Given the description of an element on the screen output the (x, y) to click on. 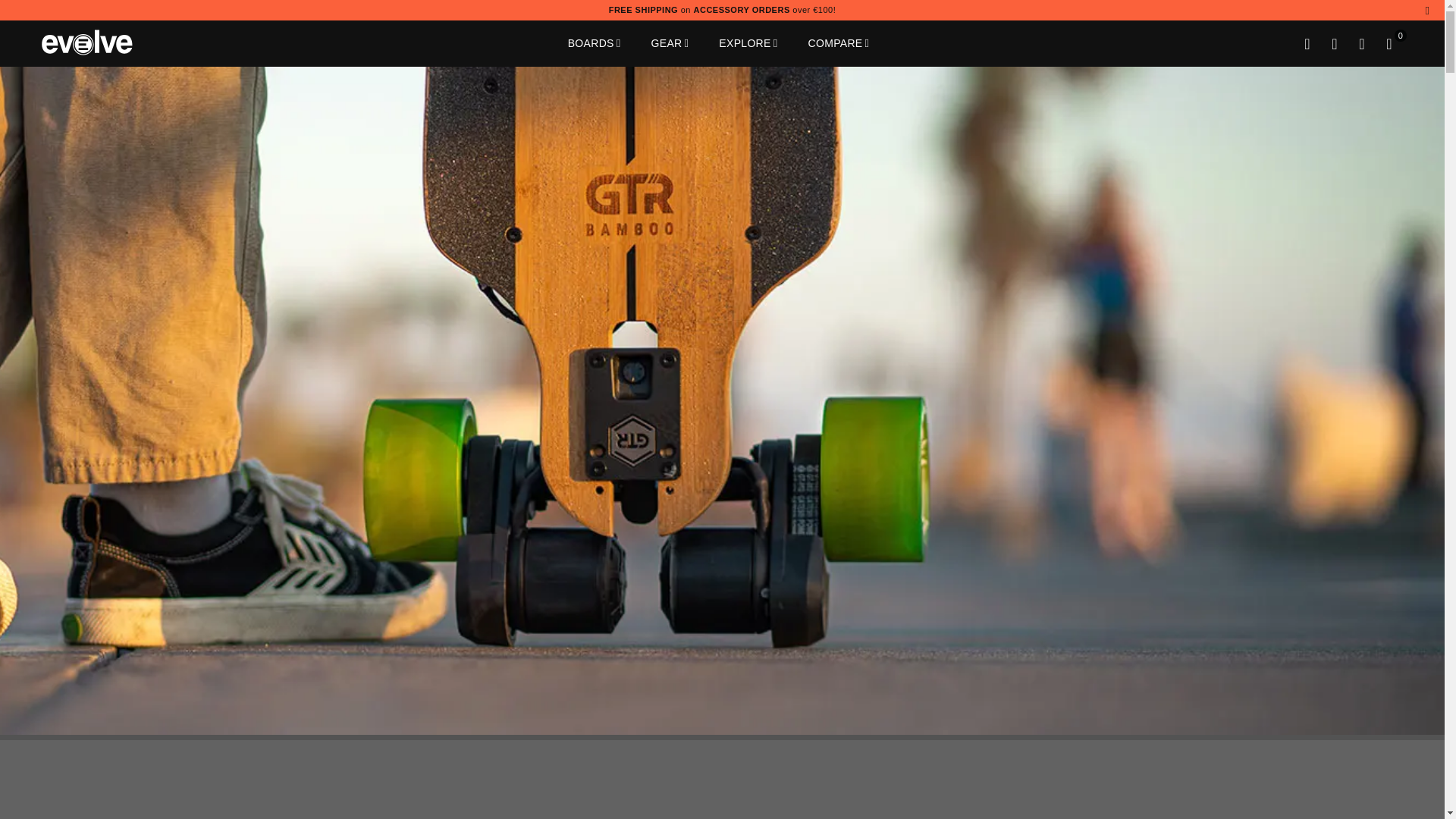
Search (1307, 42)
Cart (1389, 42)
BOARDS (593, 43)
Wishlist (1361, 42)
EVOLVE SKATEBOARDS EU (106, 42)
GEAR (670, 43)
Settings (1334, 42)
